Given the description of an element on the screen output the (x, y) to click on. 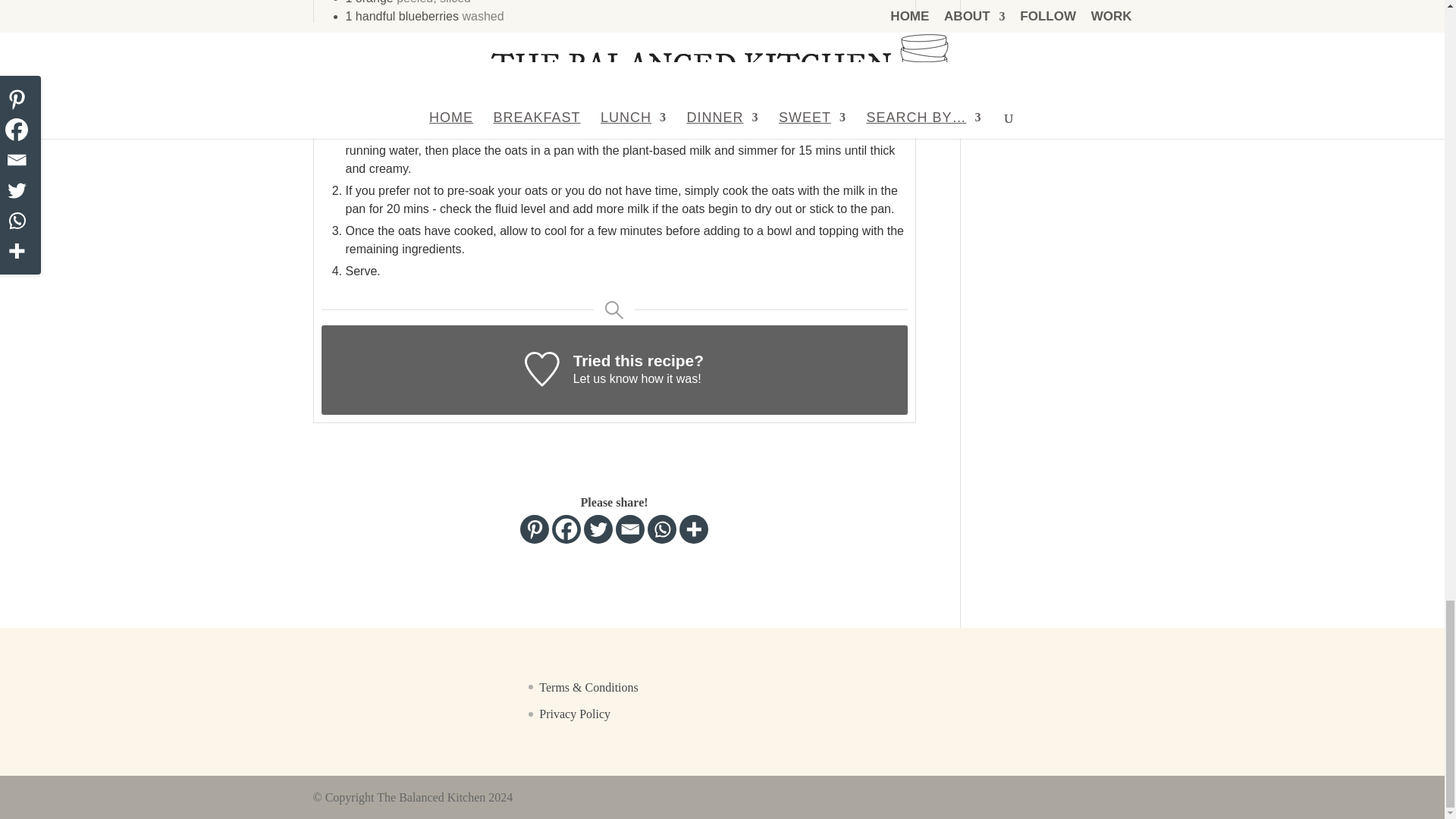
Twitter (597, 529)
Facebook (565, 529)
Whatsapp (662, 529)
Email (630, 529)
Pinterest (533, 529)
More (693, 529)
